Given the description of an element on the screen output the (x, y) to click on. 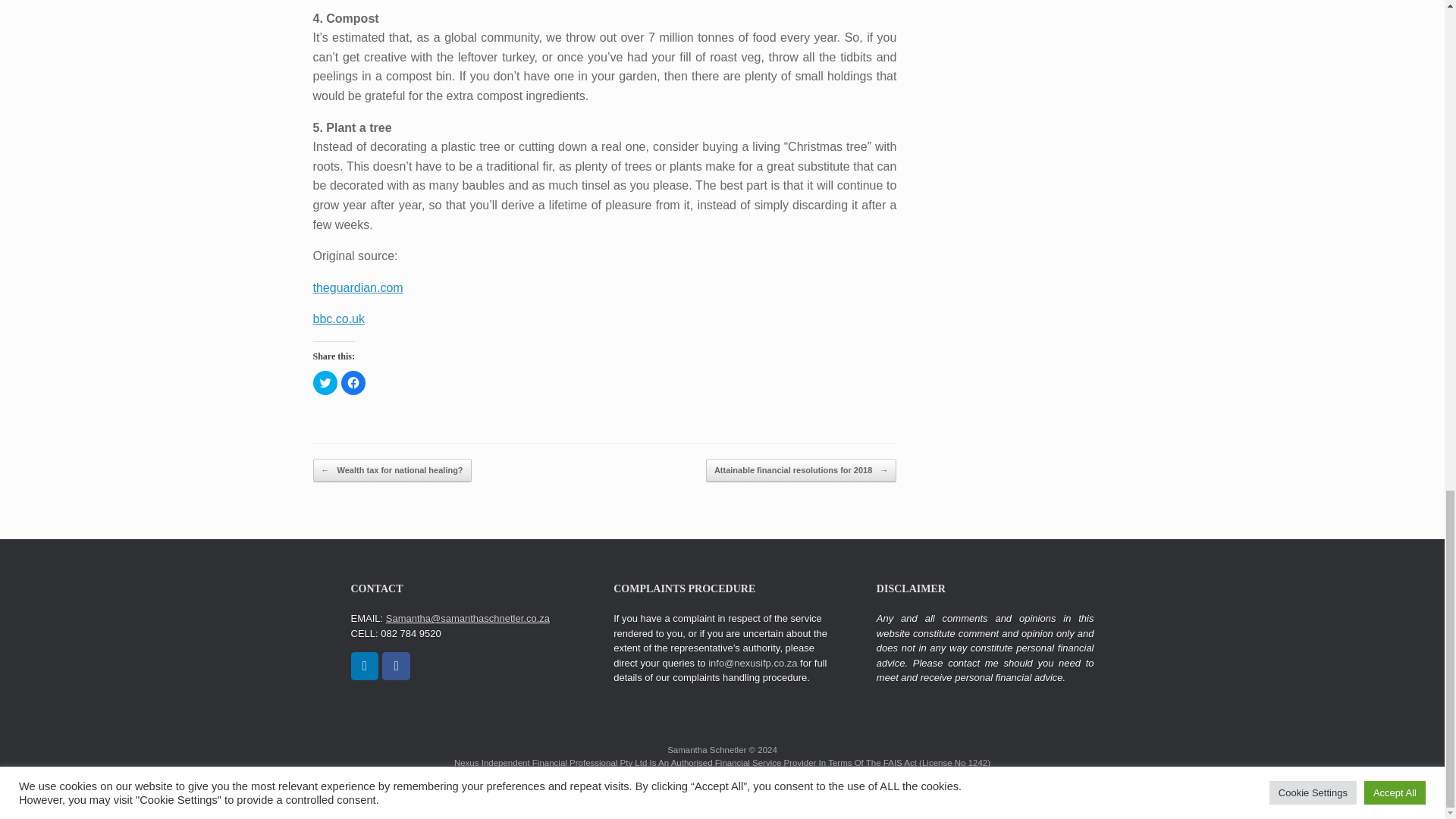
Samantha Schnetler on Facebook (395, 665)
theguardian.com (358, 287)
Click to share on Facebook (352, 382)
bbc.co.uk (338, 318)
Contatto (618, 775)
Click to share on Twitter (324, 382)
Samantha Schnetler on Linkedin (364, 665)
MacMedia Photography (877, 775)
